Given the description of an element on the screen output the (x, y) to click on. 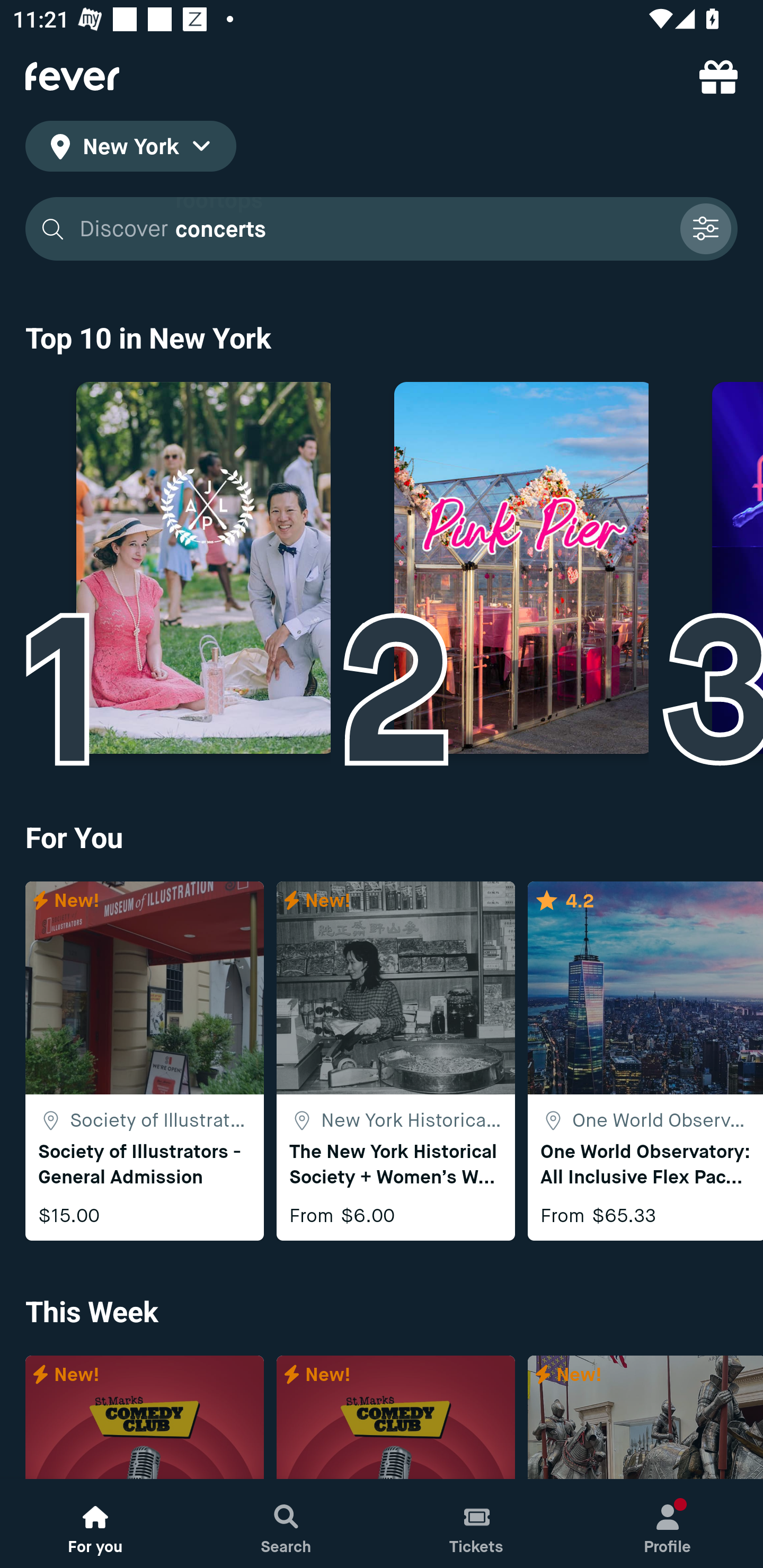
referral (718, 75)
location icon New York location icon (130, 149)
Discover rooftops concerts (381, 228)
Discover rooftops concerts (373, 228)
Search (285, 1523)
Tickets (476, 1523)
Profile, New notification Profile (667, 1523)
